Given the description of an element on the screen output the (x, y) to click on. 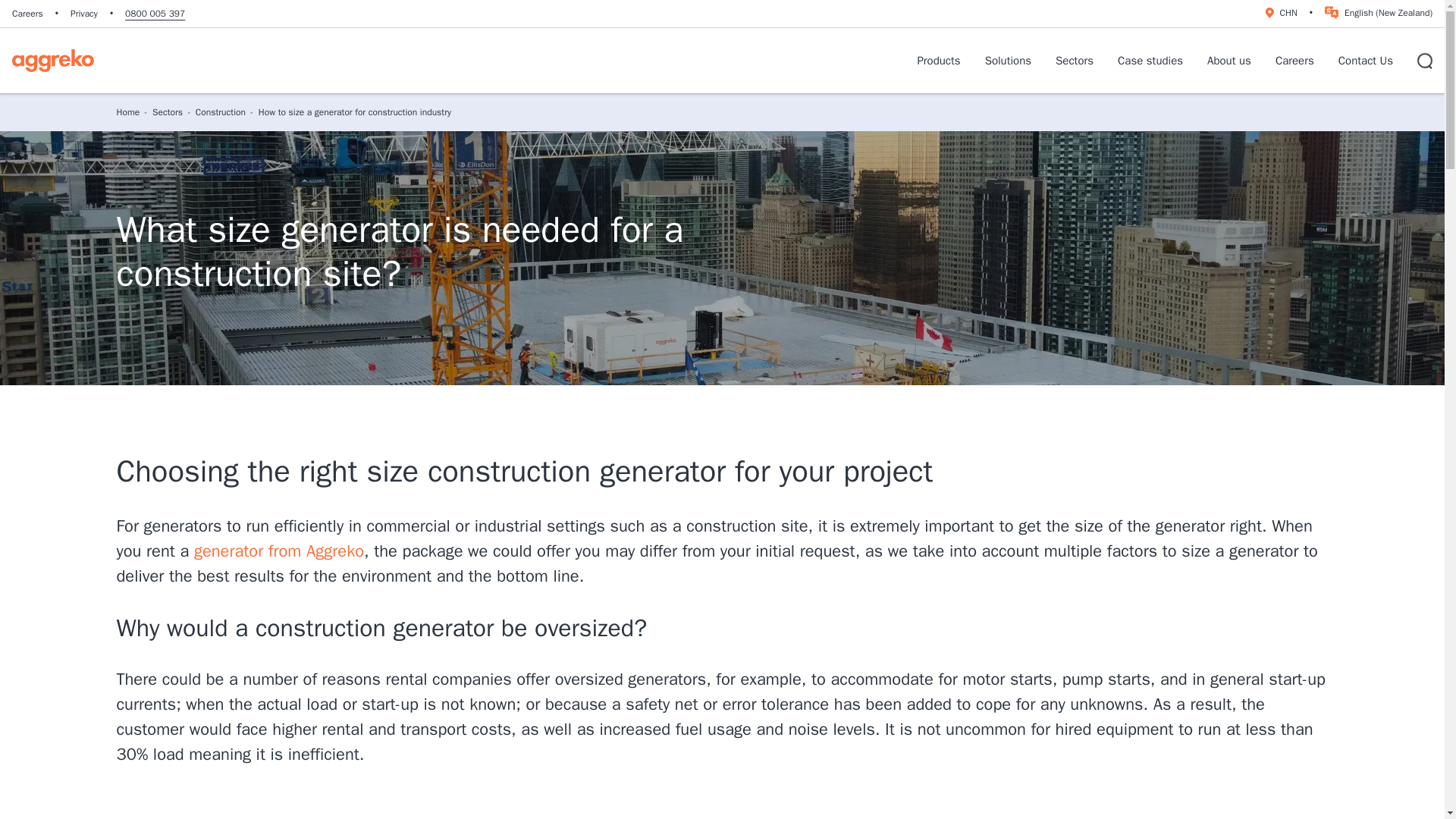
Language and Location (1278, 12)
Privacy (83, 13)
Call us (154, 13)
Careers (27, 13)
Solutions (1007, 60)
Products (938, 60)
CHN (1278, 12)
Privacy (83, 13)
0800 005 397 (154, 13)
Careers (27, 13)
